Given the description of an element on the screen output the (x, y) to click on. 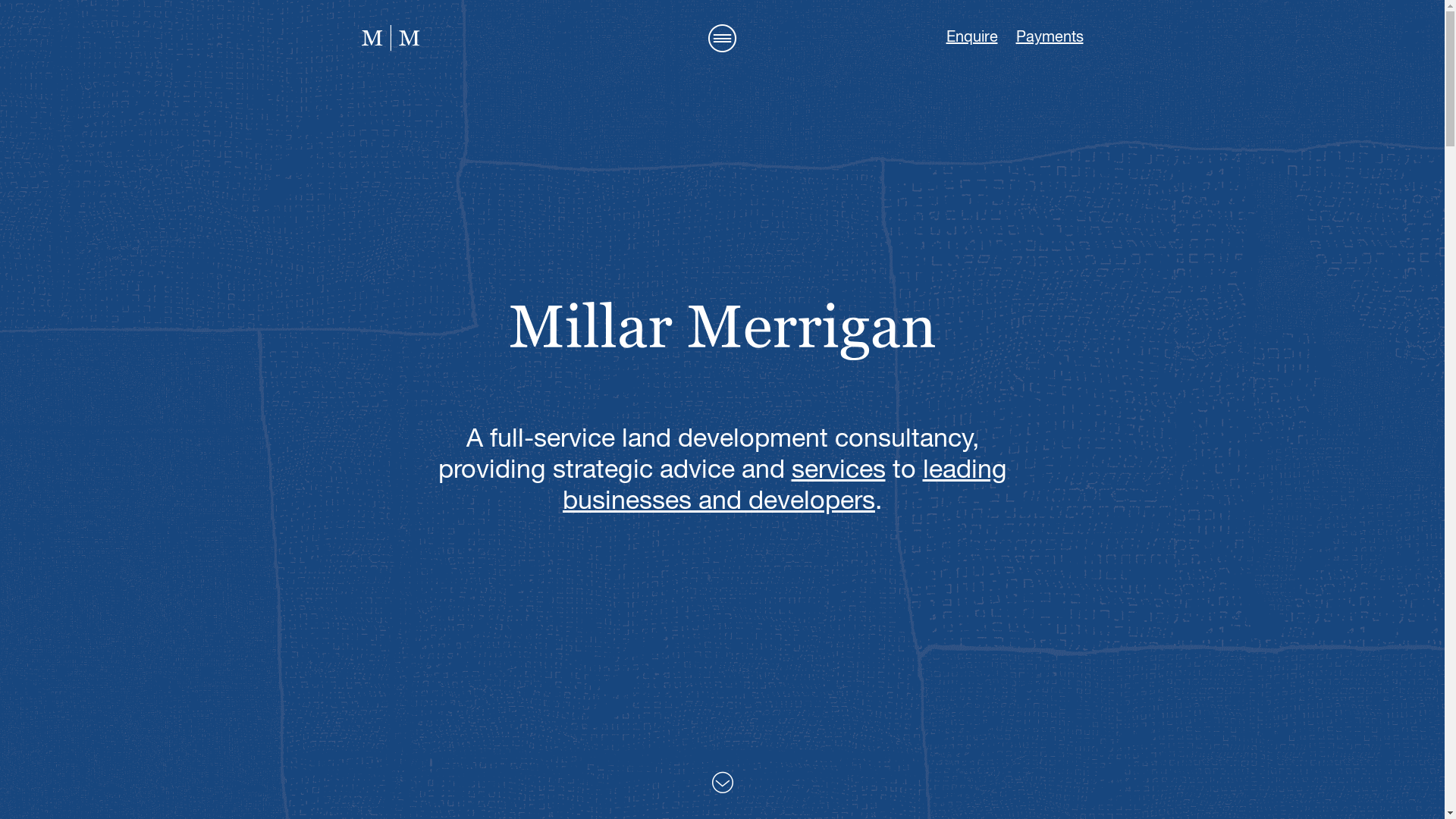
Call to Mind Element type: hover (389, 37)
View More Element type: hover (721, 782)
Enquire Element type: text (971, 37)
leading businesses and developers Element type: text (784, 486)
Payments Element type: text (1049, 37)
View Menu Element type: hover (722, 38)
services Element type: text (838, 470)
